Given the description of an element on the screen output the (x, y) to click on. 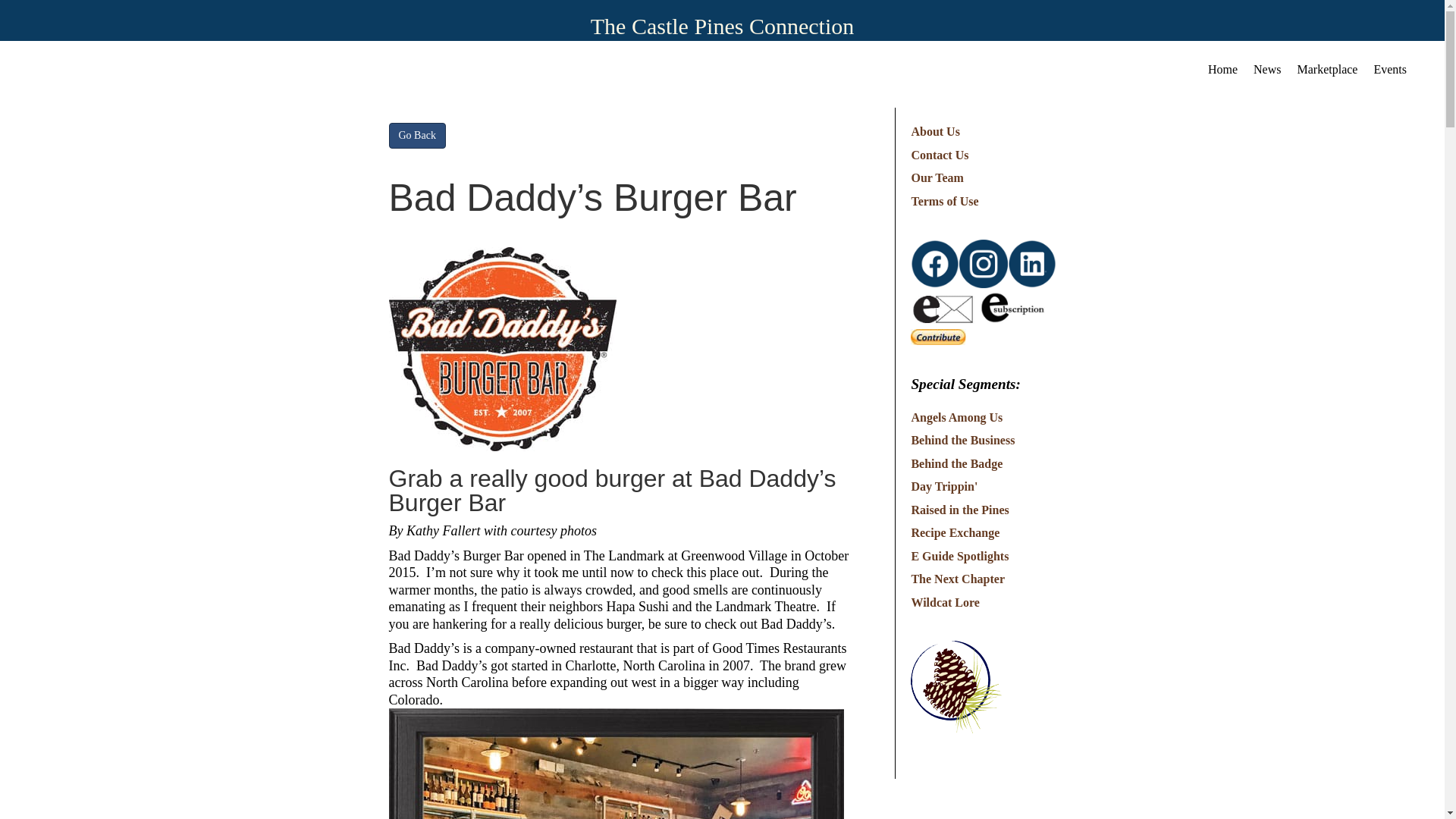
Go Back (416, 135)
News (1267, 66)
The Castle Pines Connection (722, 25)
Events (1389, 66)
Home (1221, 66)
The Castle Pines Connection (722, 25)
Marketplace (1326, 66)
